Given the description of an element on the screen output the (x, y) to click on. 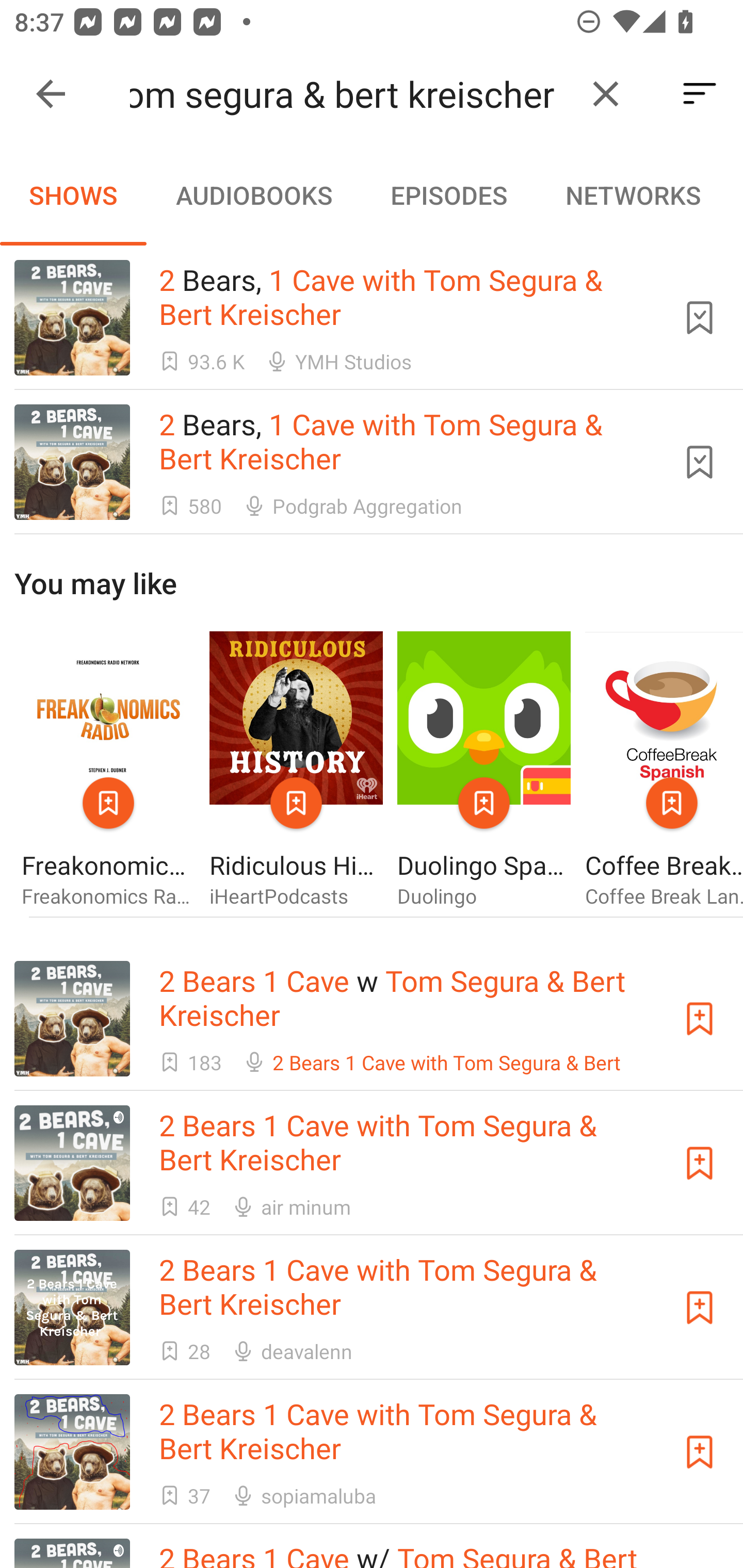
Collapse (50, 93)
Clear query (605, 93)
Sort By (699, 93)
2 bears 1 cave with tom segura & bert kreischer (349, 94)
SHOWS (73, 195)
AUDIOBOOKS (253, 195)
EPISODES (448, 195)
NETWORKS (632, 195)
Unsubscribe (699, 317)
Unsubscribe (699, 462)
Freakonomics Radio Freakonomics Radio + Stitcher (107, 770)
Ridiculous History iHeartPodcasts (295, 770)
Duolingo Spanish Podcast Duolingo (483, 770)
Coffee Break Spanish Coffee Break Languages (664, 770)
Subscribe (699, 1019)
Subscribe (699, 1163)
Subscribe (699, 1307)
Subscribe (699, 1451)
